Given the description of an element on the screen output the (x, y) to click on. 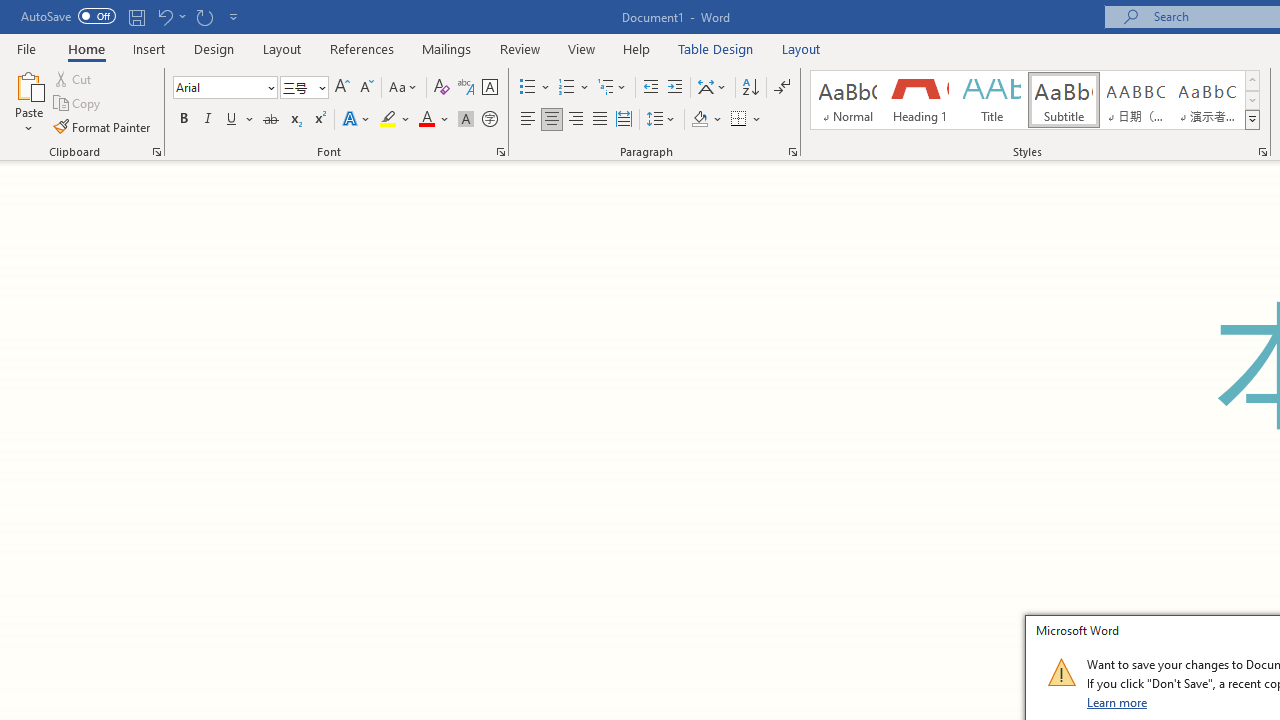
Learn more (1118, 702)
